Given the description of an element on the screen output the (x, y) to click on. 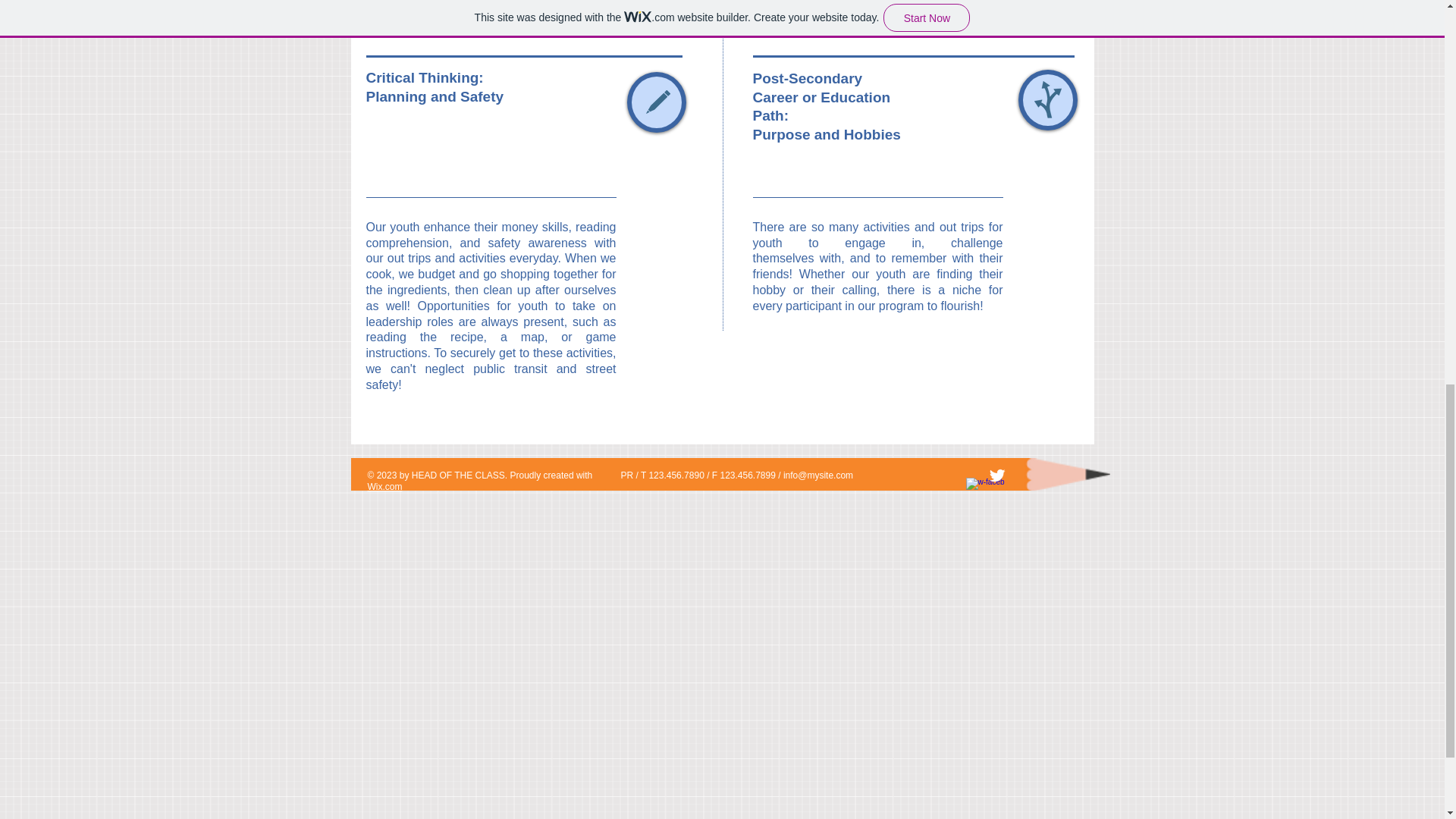
Wix.com (383, 486)
